Given the description of an element on the screen output the (x, y) to click on. 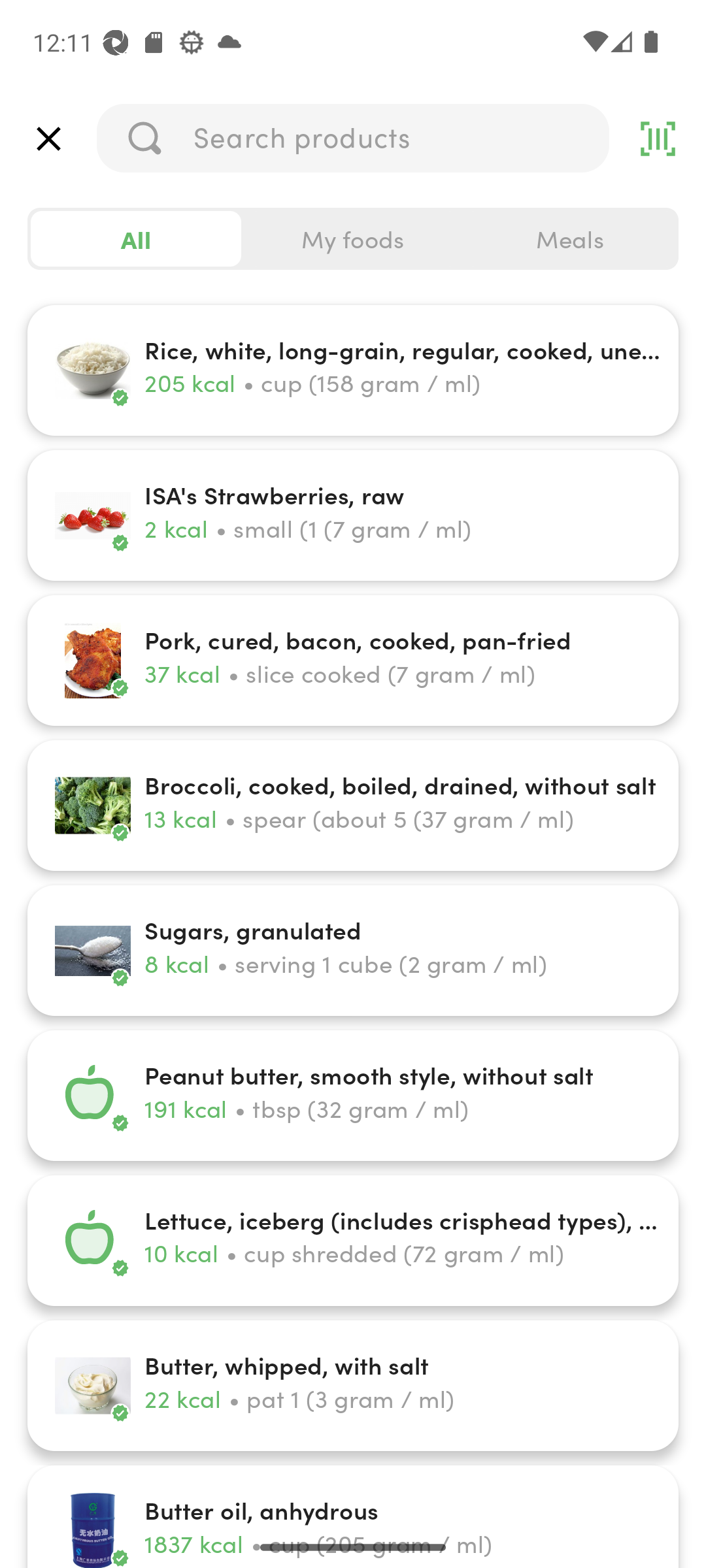
top_left_action (48, 138)
top_right_action (658, 138)
My foods (352, 238)
Meals (569, 238)
